Given the description of an element on the screen output the (x, y) to click on. 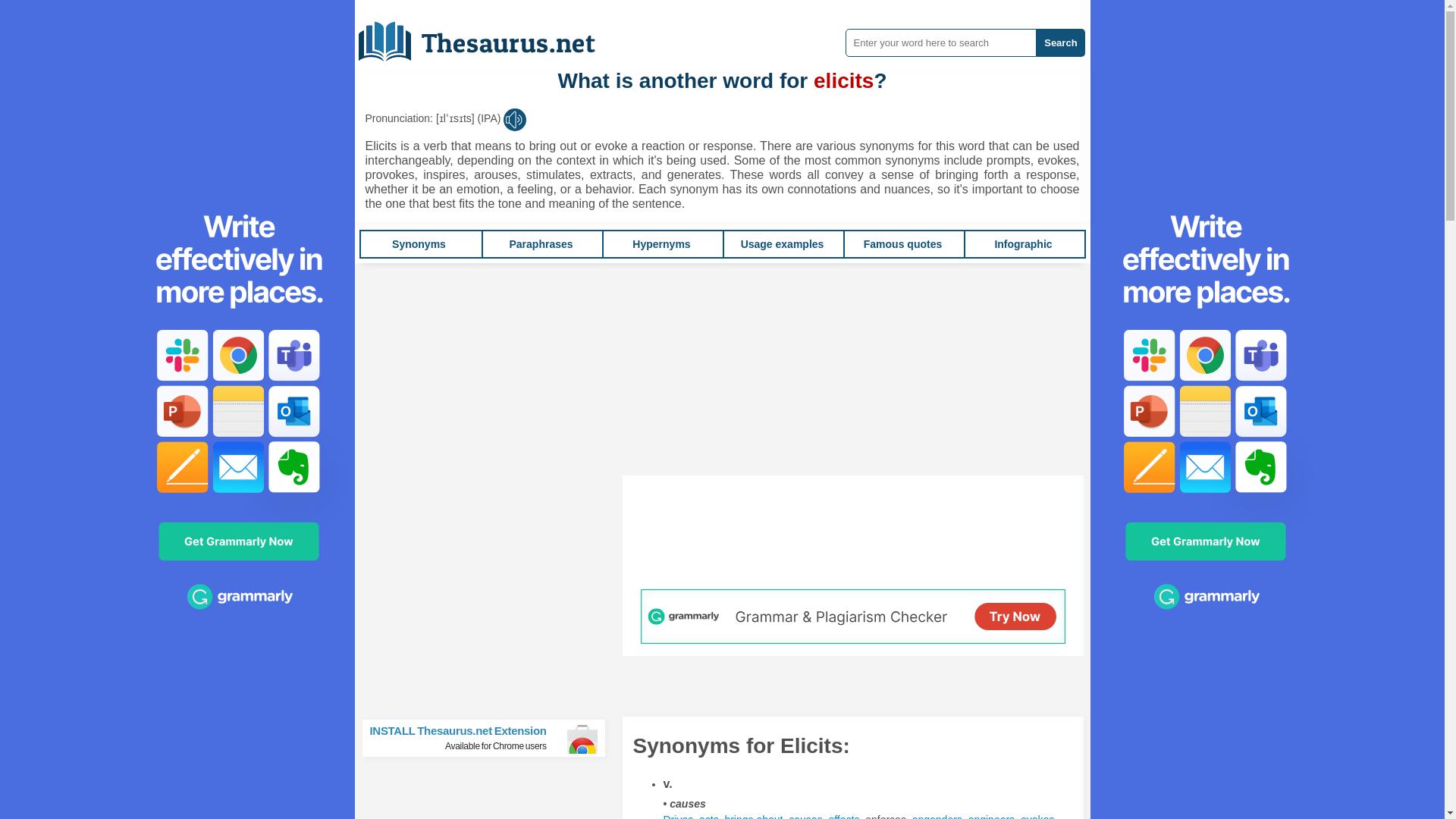
Thesaurus.net (487, 35)
Drives (677, 816)
Famous quotes (902, 244)
Synonyms (418, 244)
Synonyms for Elicits (708, 816)
Synonyms for Elicits (677, 816)
evokes (1037, 816)
Synonyms (418, 244)
engineers (991, 816)
Infographic (1022, 244)
Synonyms for Elicits (843, 816)
Famous quotes (902, 244)
Usage examples (782, 244)
acts (708, 816)
Search (1060, 42)
